Given the description of an element on the screen output the (x, y) to click on. 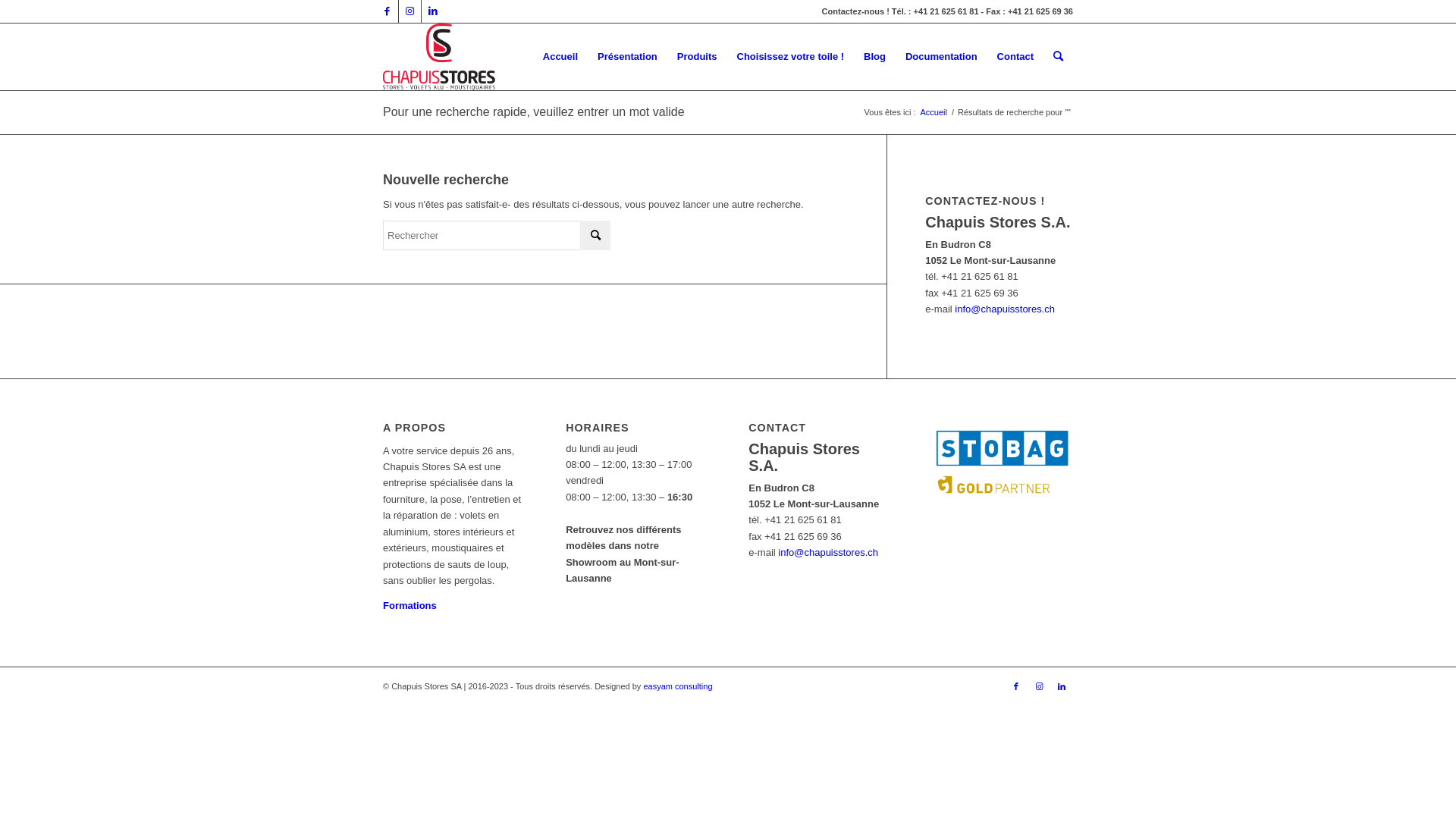
Facebook Element type: hover (1015, 685)
Instagram Element type: hover (1038, 685)
easyam consulting Element type: text (677, 685)
Accueil Element type: text (560, 56)
Accueil Element type: text (932, 112)
Produits Element type: text (697, 56)
Formations Element type: text (409, 605)
Blog Element type: text (874, 56)
LinkedIn Element type: hover (432, 11)
Documentation Element type: text (941, 56)
Instagram Element type: hover (409, 11)
Contact Element type: text (1015, 56)
info@chapuisstores.ch Element type: text (828, 552)
Facebook Element type: hover (387, 11)
info@chapuisstores.ch Element type: text (1004, 308)
Choisissez votre toile ! Element type: text (789, 56)
LinkedIn Element type: hover (1061, 685)
